Given the description of an element on the screen output the (x, y) to click on. 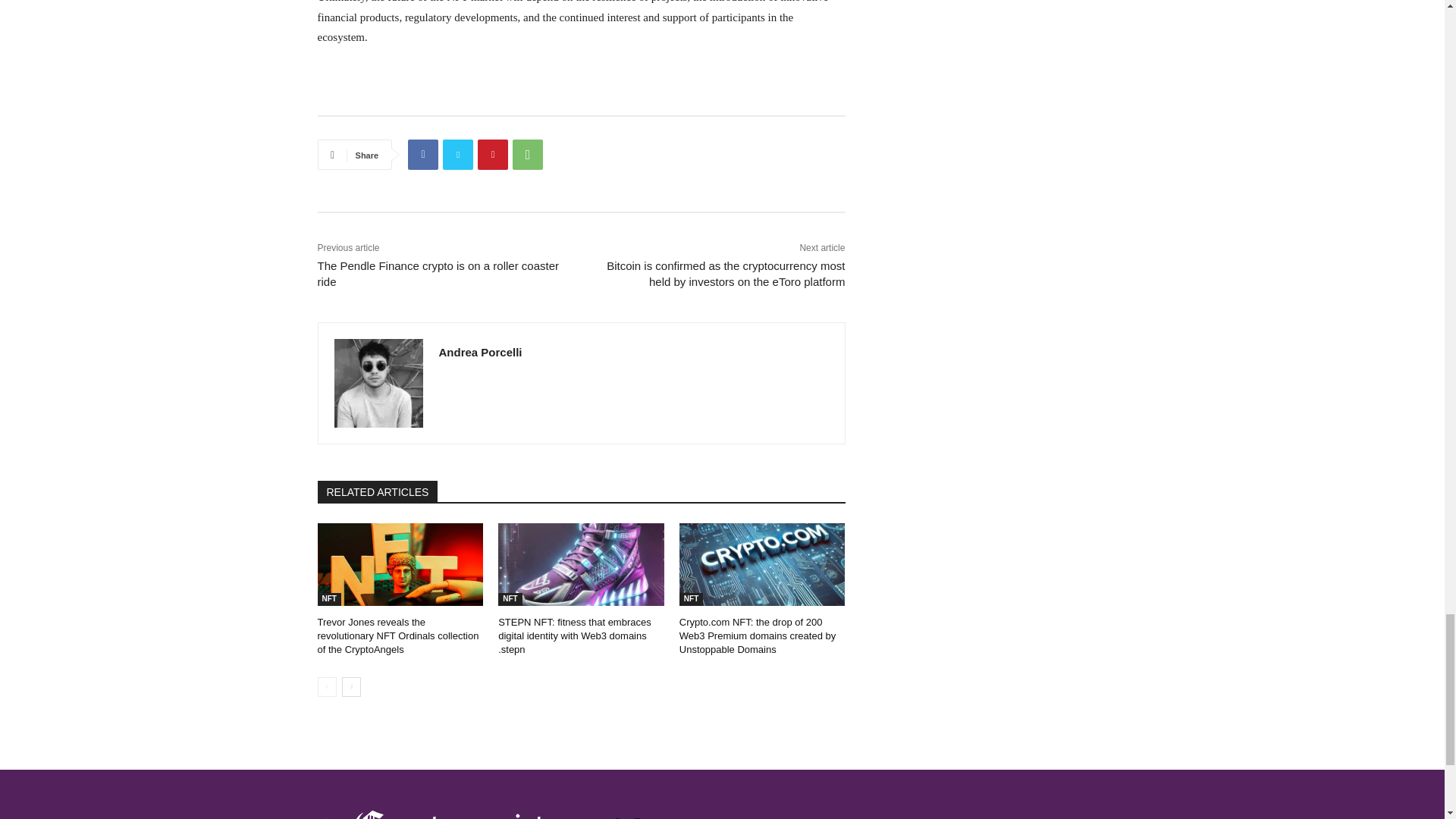
Facebook (422, 154)
Twitter (457, 154)
Pinterest (492, 154)
